Given the description of an element on the screen output the (x, y) to click on. 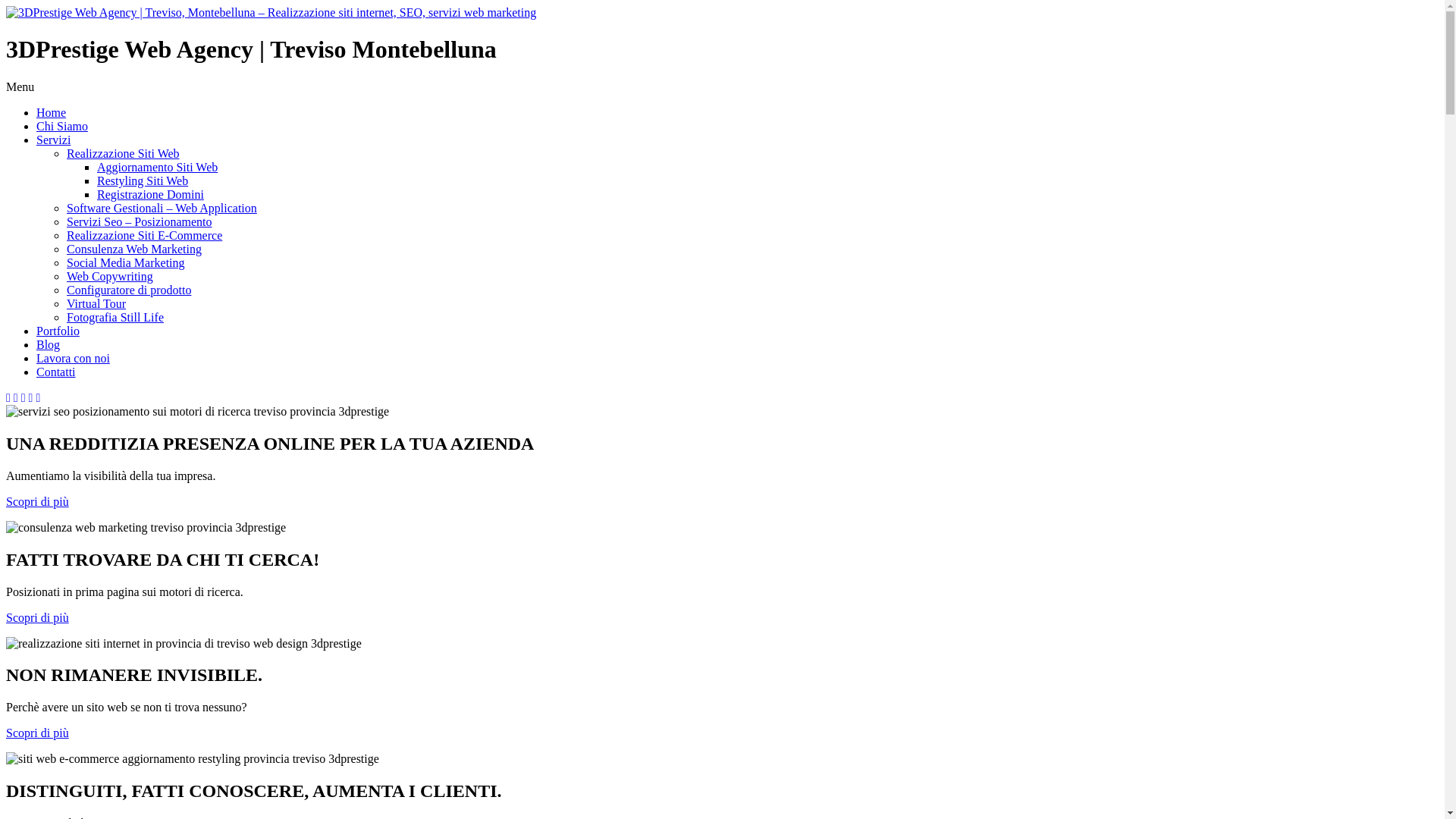
Realizzazione Siti Web Element type: text (122, 153)
Configuratore di prodotto Element type: text (128, 289)
Social Media Marketing Element type: text (125, 262)
Home Element type: text (50, 112)
Registrazione Domini Element type: text (150, 194)
Realizzazione Siti E-Commerce Element type: text (144, 235)
Blog Element type: text (47, 344)
Servizi Element type: text (53, 139)
Portfolio Element type: text (57, 330)
Chi Siamo Element type: text (61, 125)
Restyling Siti Web Element type: text (142, 180)
Fotografia Still Life Element type: text (114, 316)
Lavora con noi Element type: text (72, 357)
Web Copywriting Element type: text (109, 275)
Aggiornamento Siti Web Element type: text (157, 166)
Contatti Element type: text (55, 371)
Virtual Tour Element type: text (95, 303)
Consulenza Web Marketing Element type: text (133, 248)
